Given the description of an element on the screen output the (x, y) to click on. 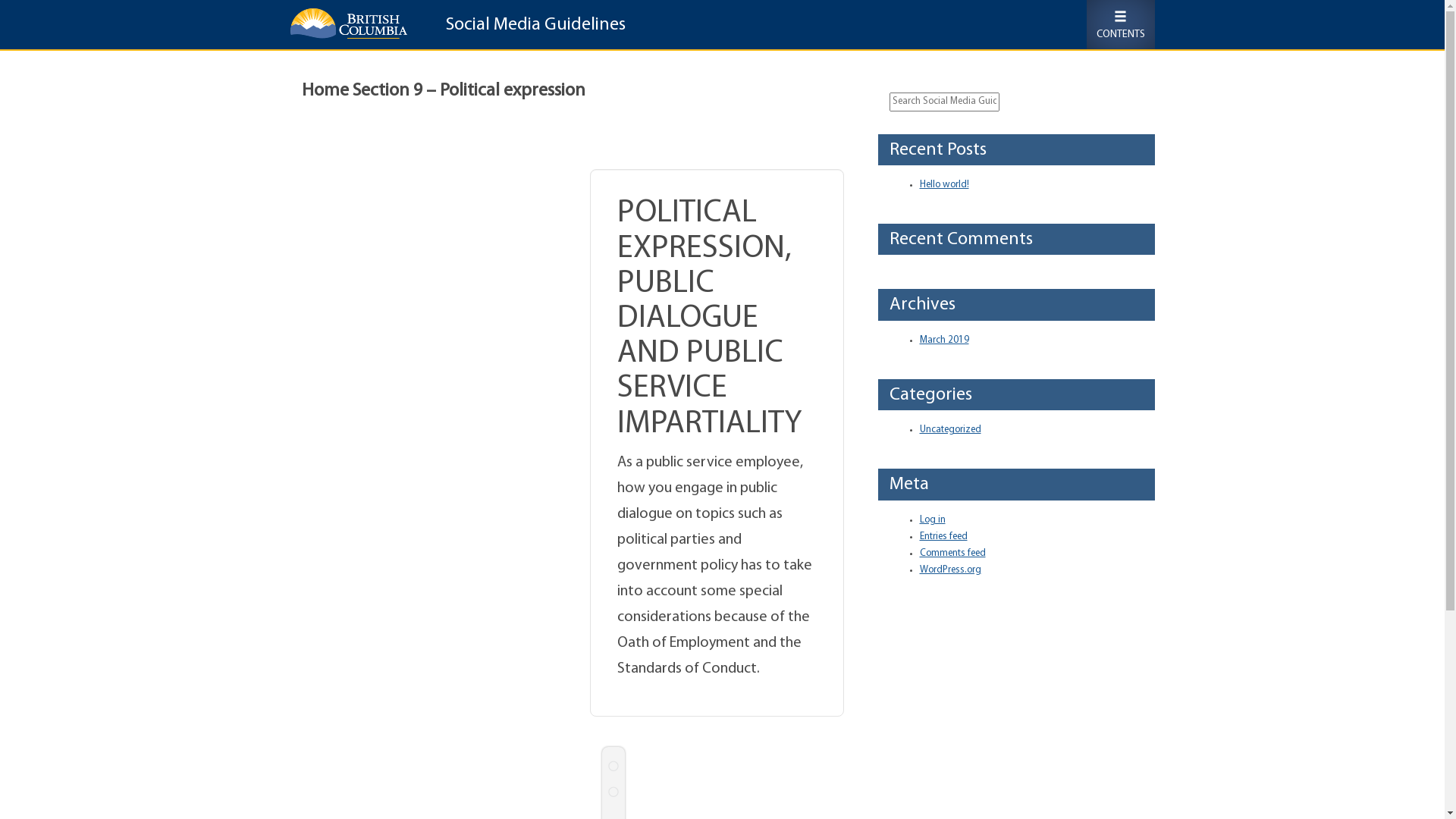
Uncategorized Element type: text (949, 429)
Log in Element type: text (931, 519)
WordPress.org Element type: text (949, 569)
Comments feed Element type: text (952, 553)
Hello world! Element type: text (943, 184)
March 2019 Element type: text (943, 340)
Toggle Menu Element type: text (1119, 24)
Social Media Guidelines Element type: text (528, 26)
Entries feed Element type: text (942, 536)
